Given the description of an element on the screen output the (x, y) to click on. 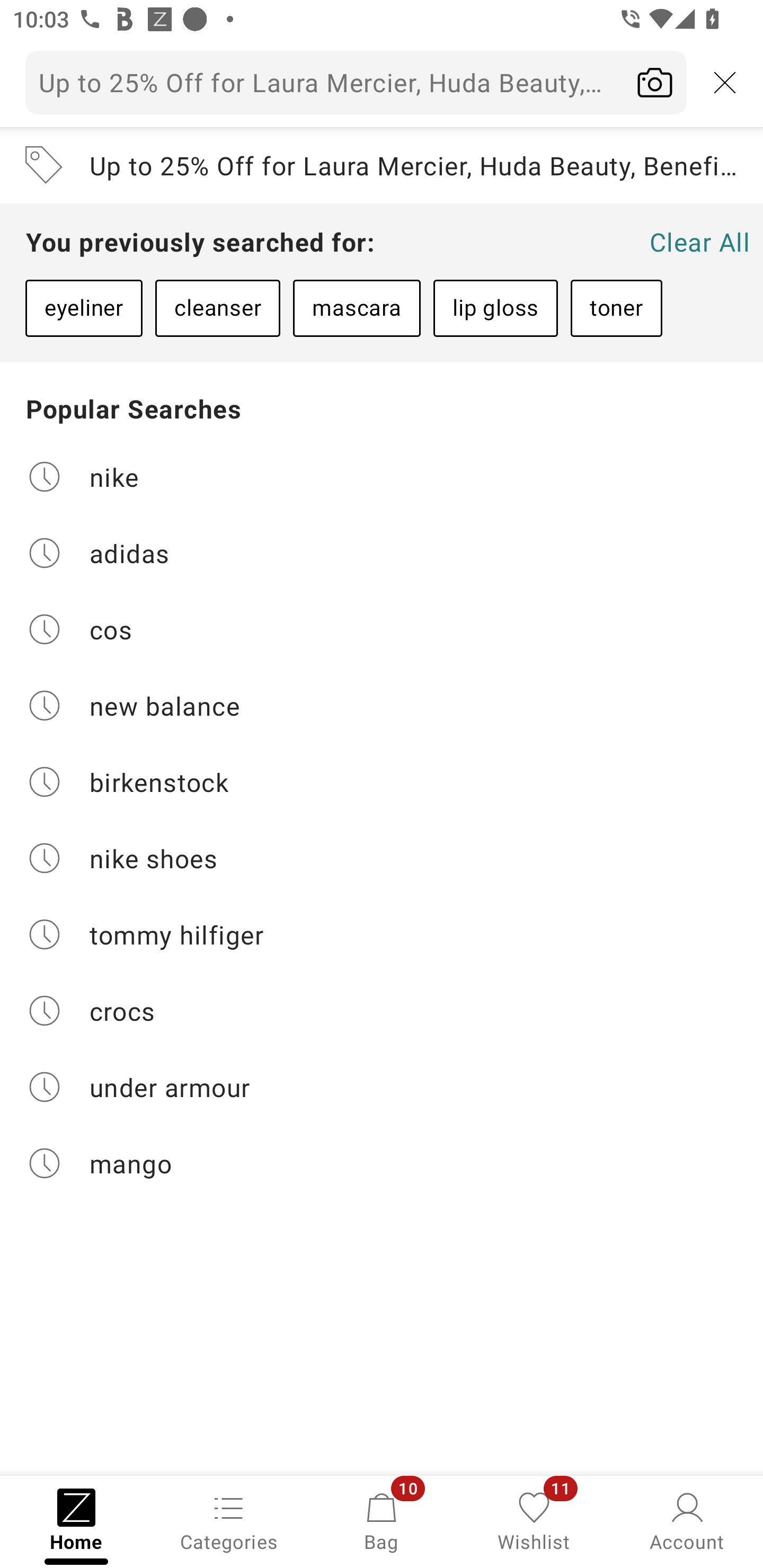
Clear All (699, 241)
eyeliner (83, 308)
cleanser (217, 308)
mascara (356, 308)
lip gloss (495, 308)
toner (616, 308)
nike (381, 476)
adidas (381, 552)
cos (381, 629)
new balance (381, 705)
birkenstock (381, 781)
nike shoes (381, 858)
tommy hilfiger (381, 934)
crocs (381, 1010)
under armour (381, 1086)
mango (381, 1163)
Categories (228, 1519)
Bag, 10 new notifications Bag (381, 1519)
Wishlist, 11 new notifications Wishlist (533, 1519)
Account (686, 1519)
